Given the description of an element on the screen output the (x, y) to click on. 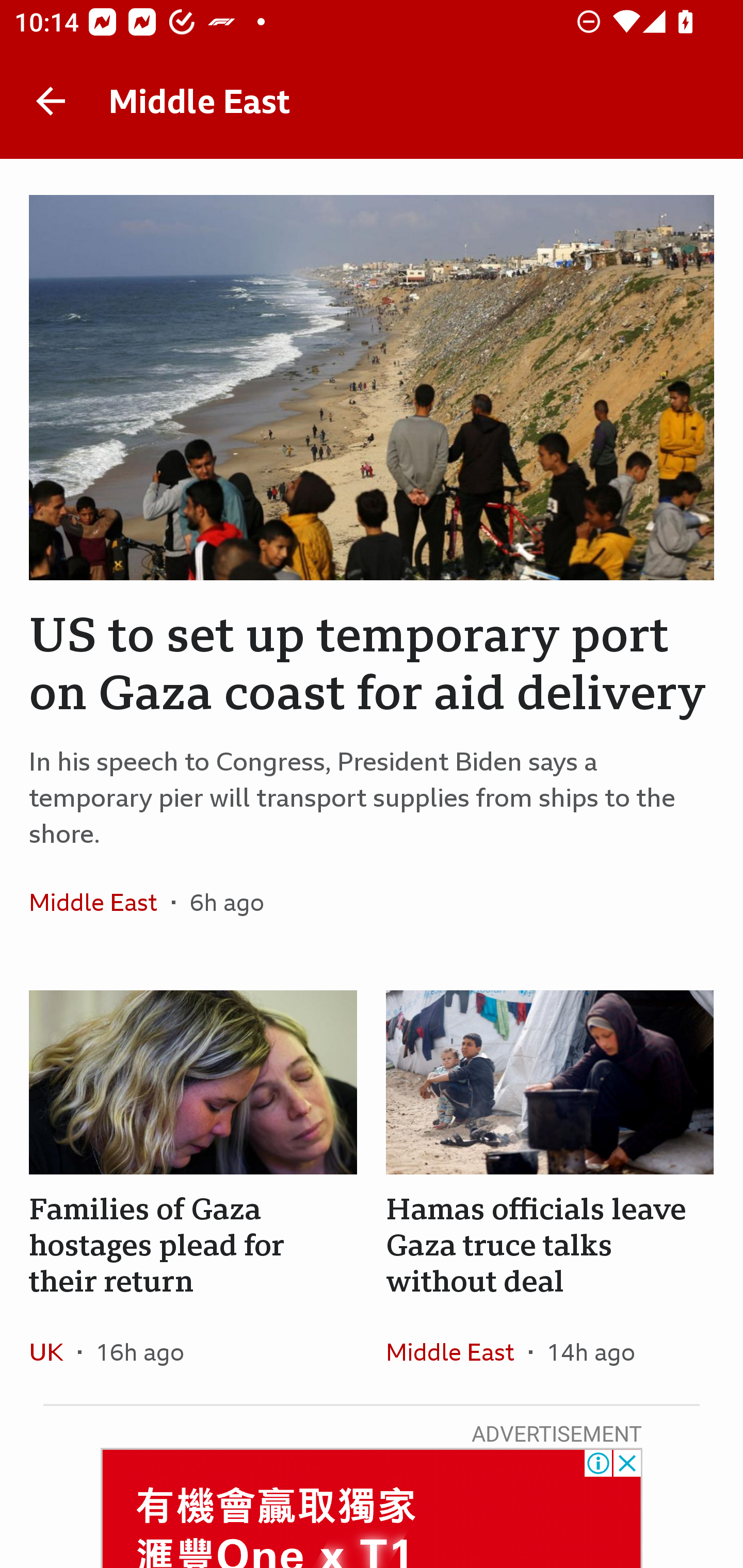
Back (50, 101)
Middle East In the section Middle East (99, 901)
UK In the section UK (53, 1351)
Middle East In the section Middle East (457, 1351)
